Given the description of an element on the screen output the (x, y) to click on. 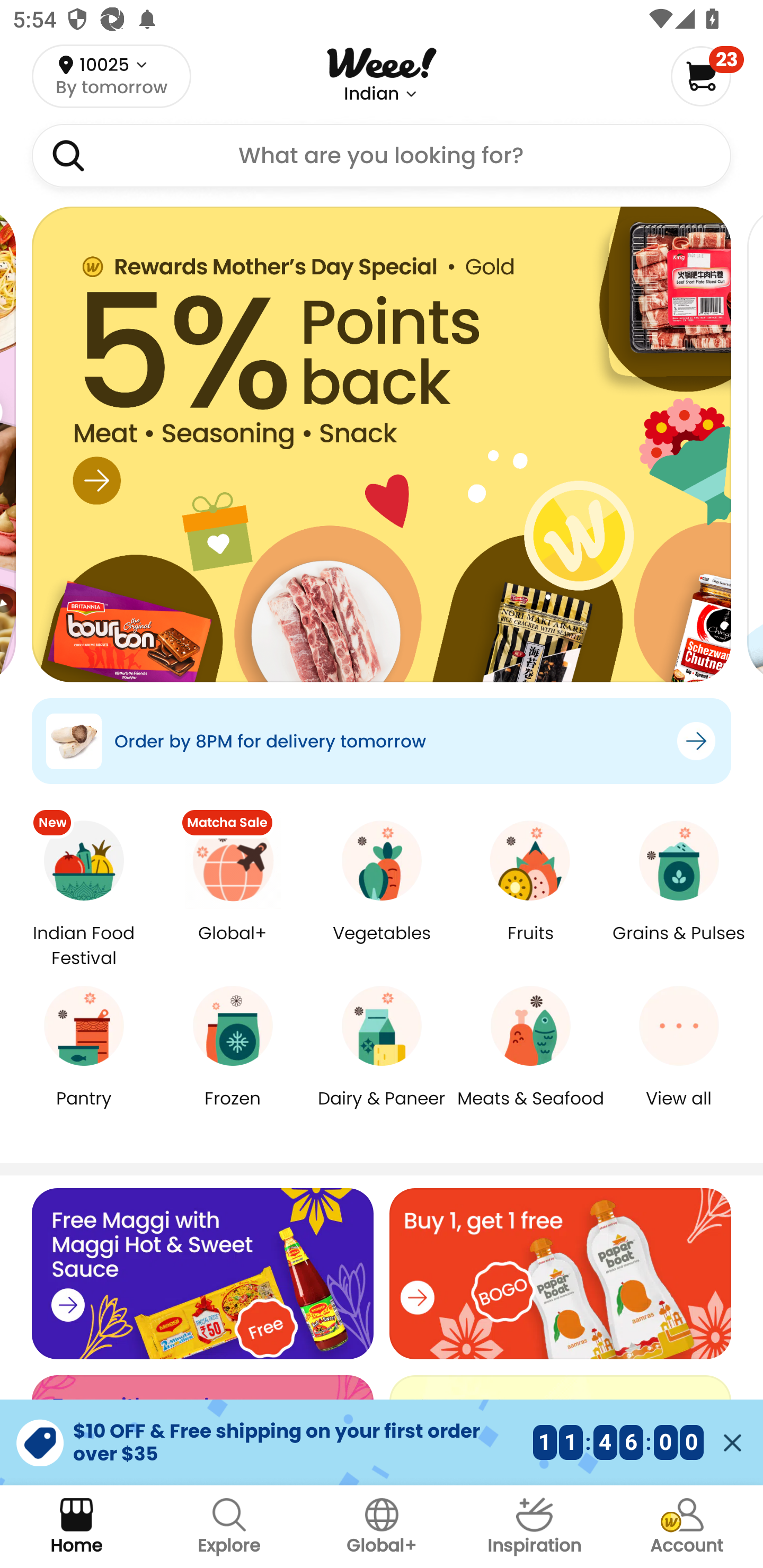
10025 By tomorrow (111, 75)
23 (706, 75)
Indian (371, 93)
What are you looking for? (381, 155)
Order by 8PM for delivery tomorrow (381, 740)
Indian Food Festival (83, 945)
Global+ (232, 946)
Vegetables (381, 946)
Fruits (530, 946)
Grains & Pulses (678, 946)
Pantry (83, 1111)
Frozen (232, 1111)
Dairy & Paneer (381, 1111)
Meats & Seafood (530, 1111)
View all (678, 1111)
Home (76, 1526)
Explore (228, 1526)
Global+ (381, 1526)
Inspiration (533, 1526)
Account (686, 1526)
